Given the description of an element on the screen output the (x, y) to click on. 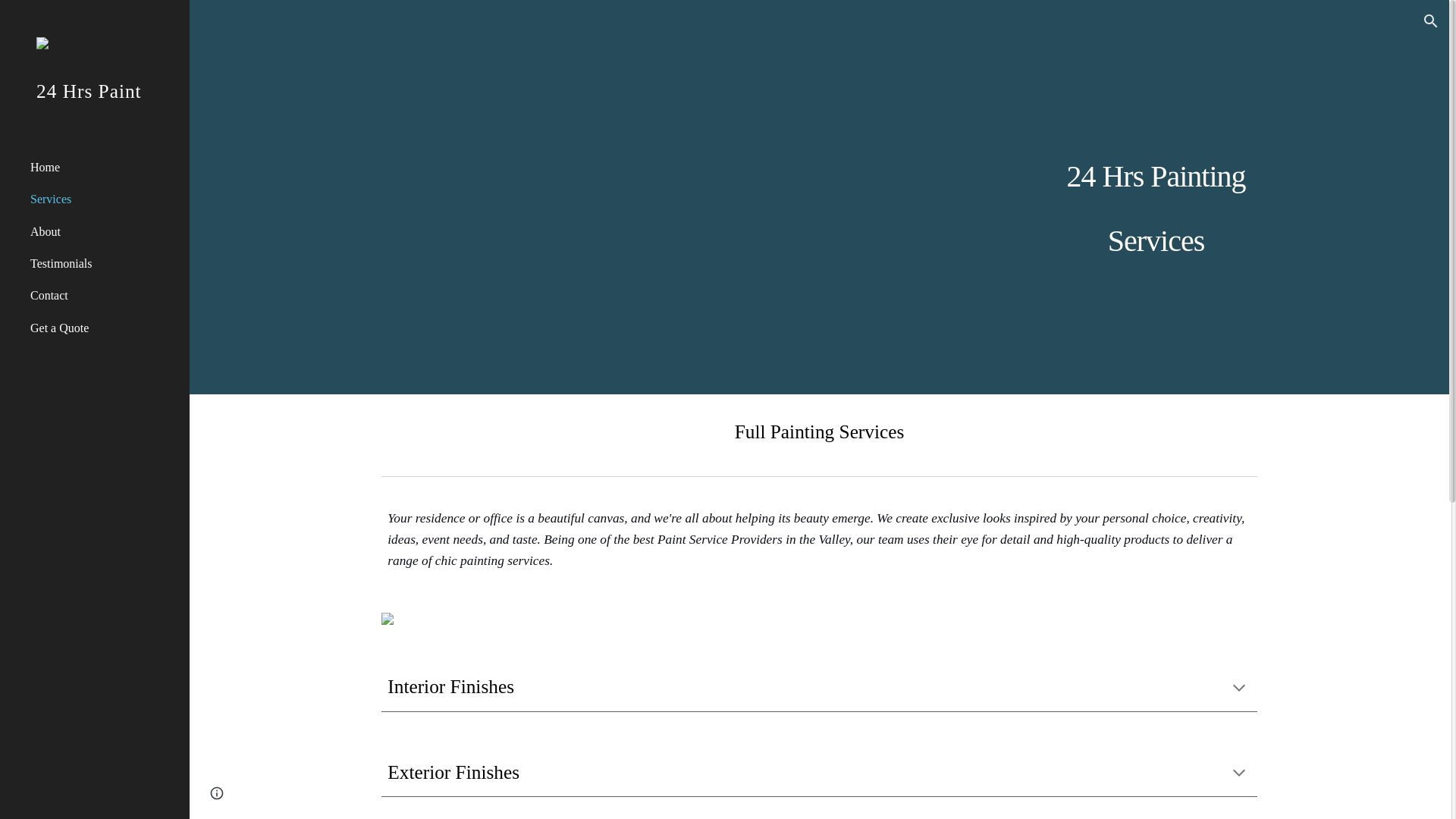
Testimonials Element type: text (103, 263)
Home Element type: text (103, 166)
Get a Quote Element type: text (103, 327)
Services Element type: text (103, 199)
24 Hrs Paint Element type: text (94, 109)
Contact Element type: text (103, 295)
About Element type: text (103, 231)
